Given the description of an element on the screen output the (x, y) to click on. 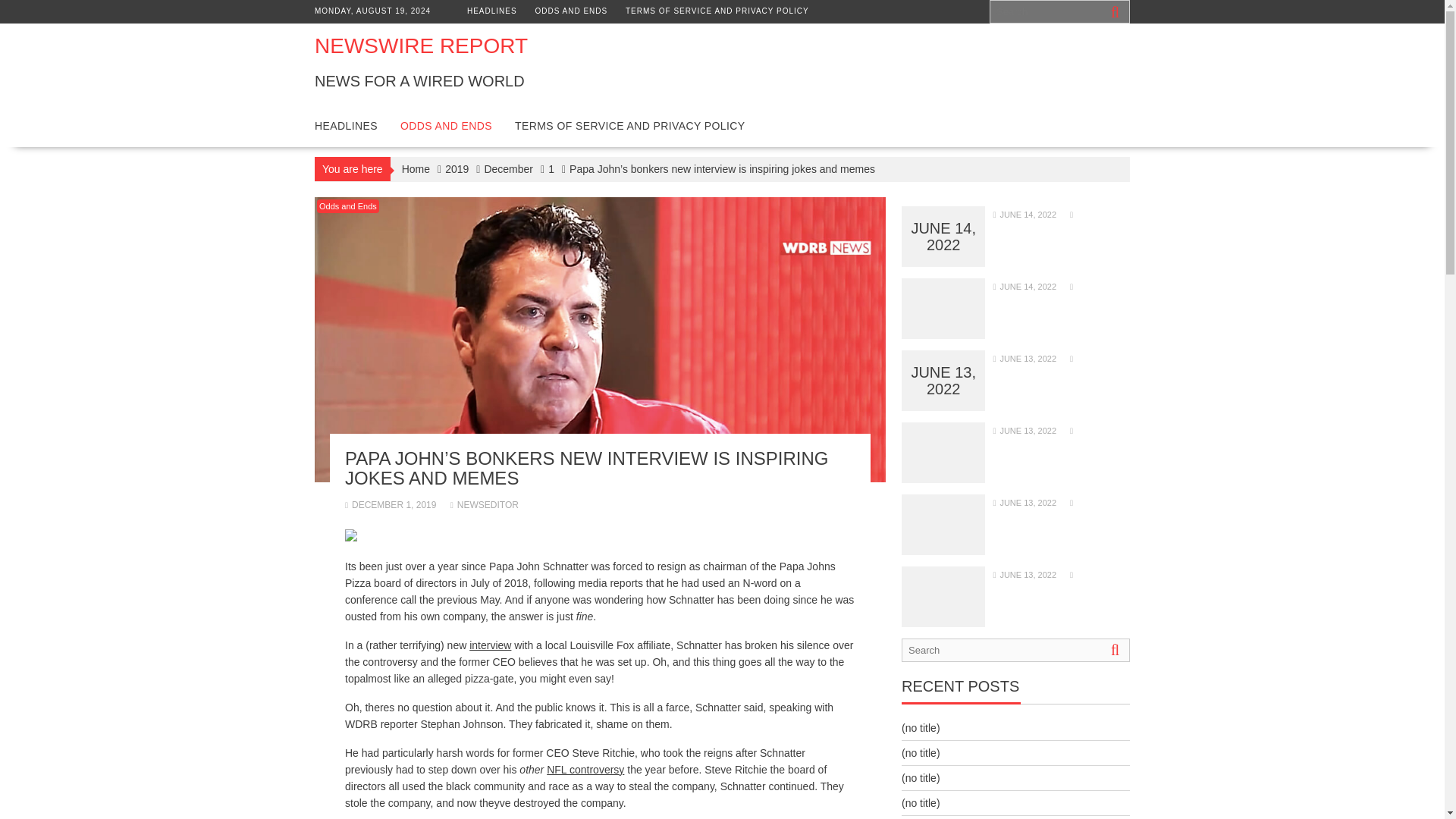
ODDS AND ENDS (445, 125)
NFL controversy (585, 769)
Home (415, 168)
NEWSEDITOR (483, 504)
DECEMBER 1, 2019 (390, 504)
2019 (456, 168)
December (507, 168)
interview (489, 645)
TERMS OF SERVICE AND PRIVACY POLICY (629, 125)
NEWSWIRE REPORT (420, 45)
